Given the description of an element on the screen output the (x, y) to click on. 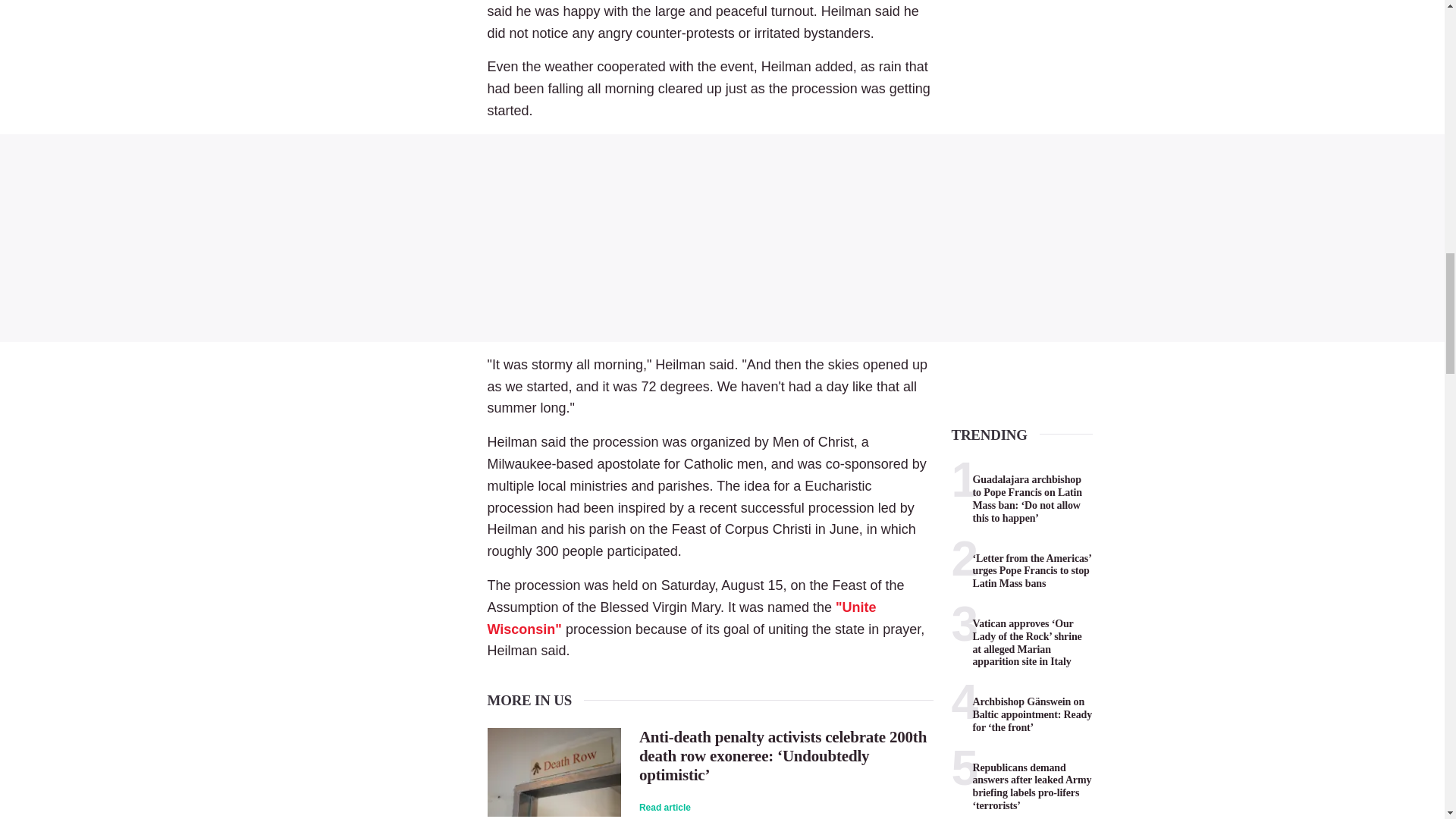
3rd party ad content (721, 237)
